Given the description of an element on the screen output the (x, y) to click on. 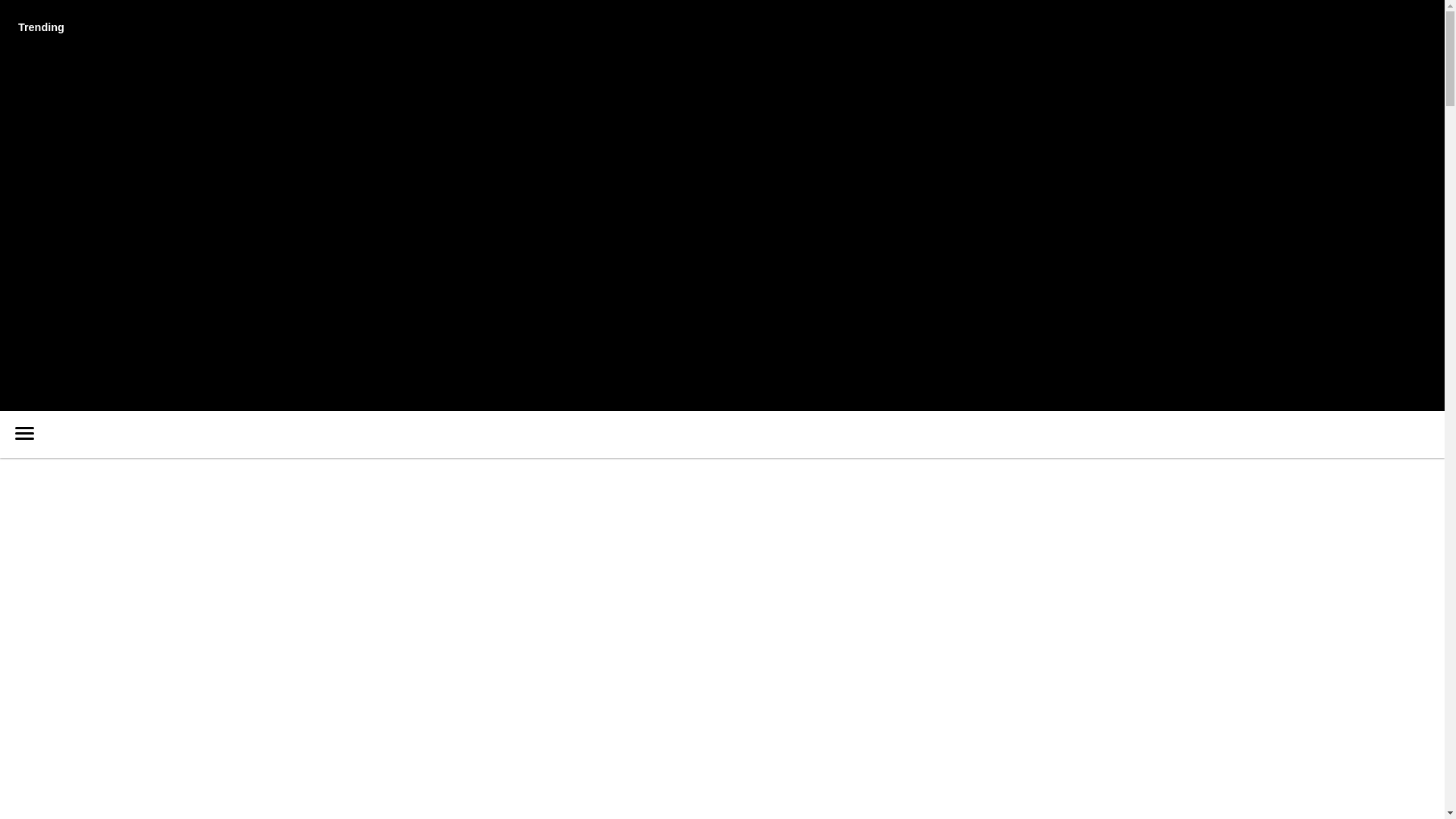
AddThis Website Tools (125, 243)
